Given the description of an element on the screen output the (x, y) to click on. 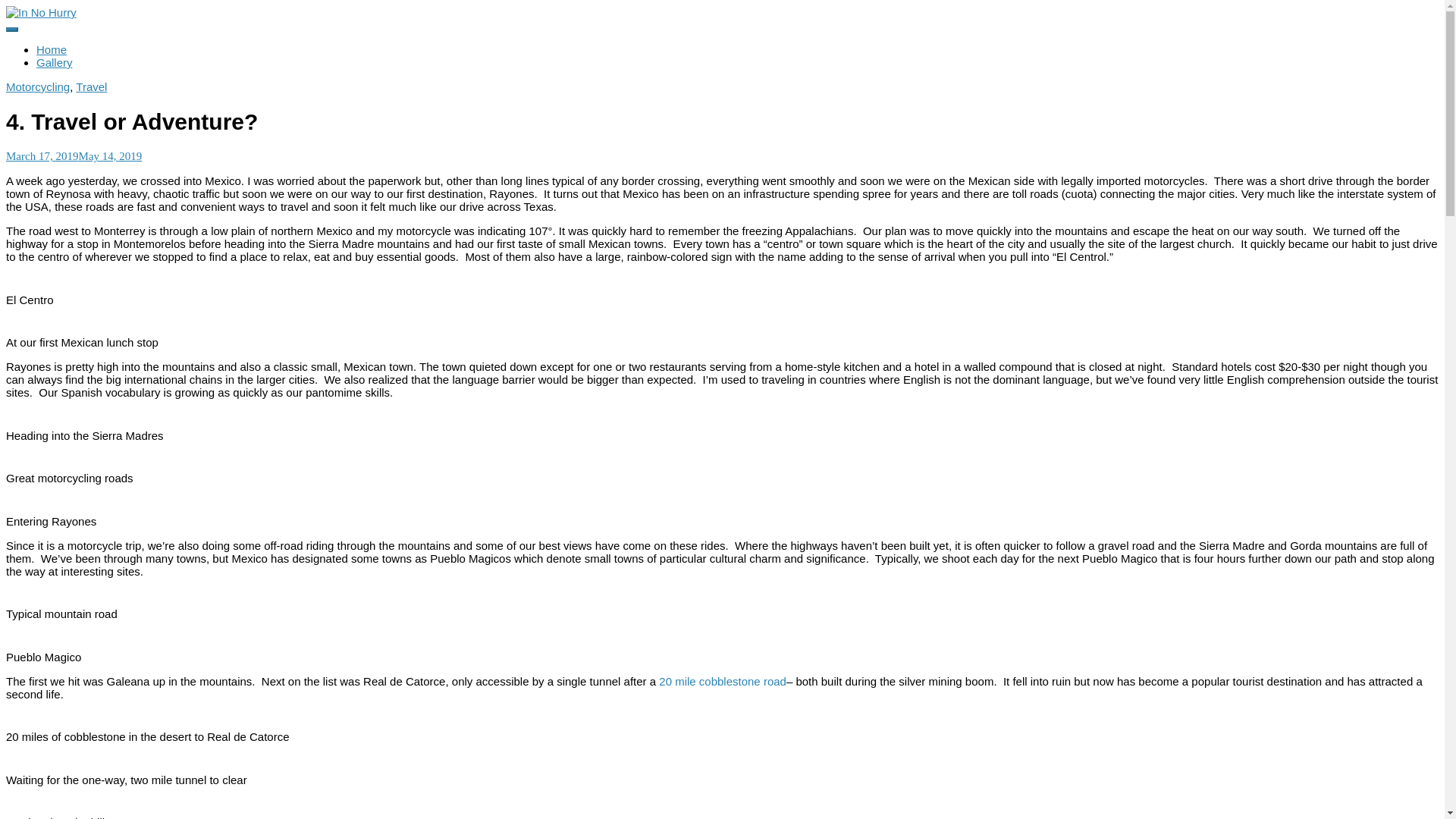
March 17, 2019May 14, 2019 (73, 155)
Home (51, 49)
Travel (90, 86)
Motorcycling (37, 86)
20 mile cobblestone road (722, 680)
Gallery (54, 62)
